Given the description of an element on the screen output the (x, y) to click on. 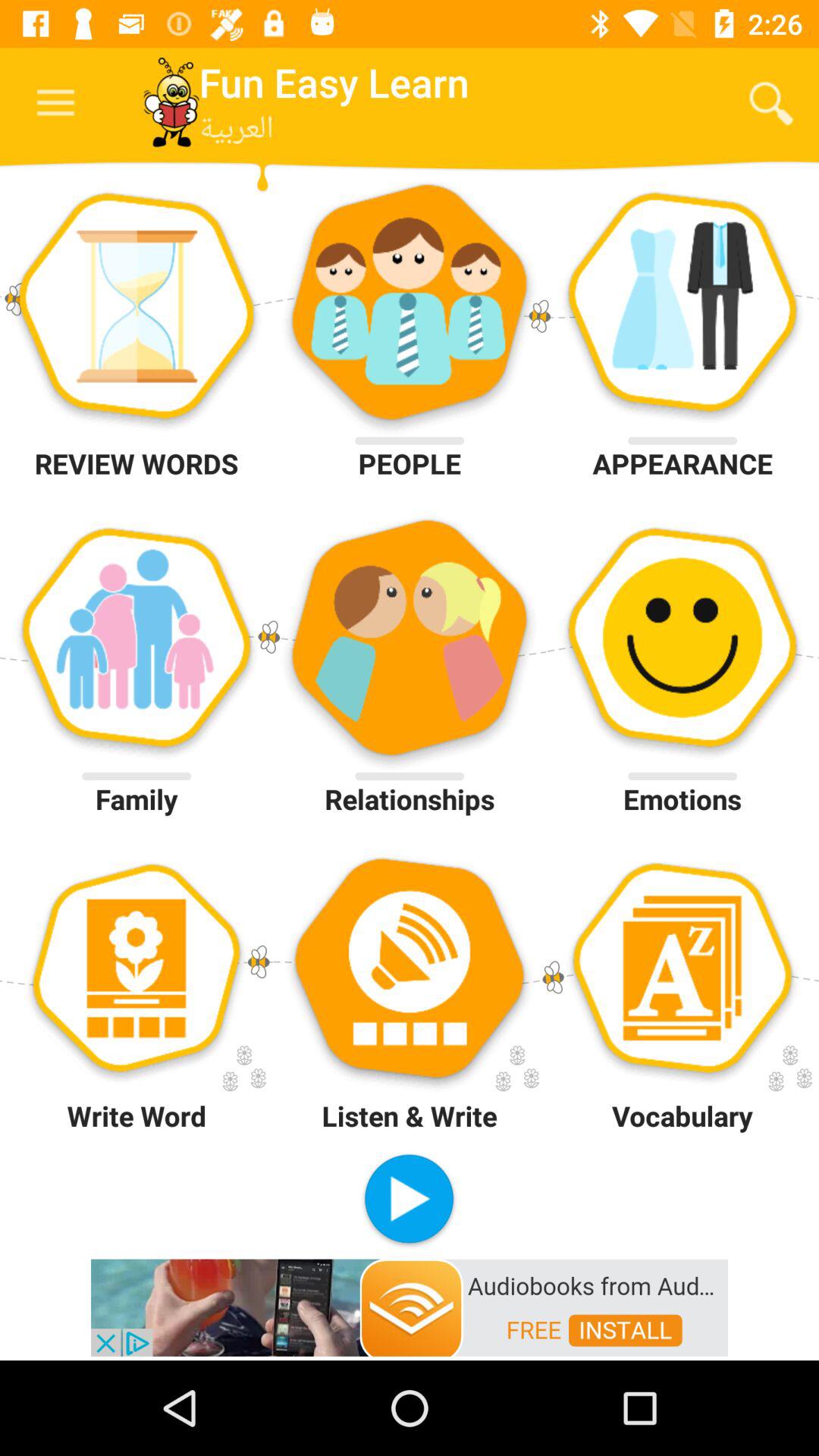
go to listen and write (409, 973)
click the search icon beside learn (771, 103)
